Given the description of an element on the screen output the (x, y) to click on. 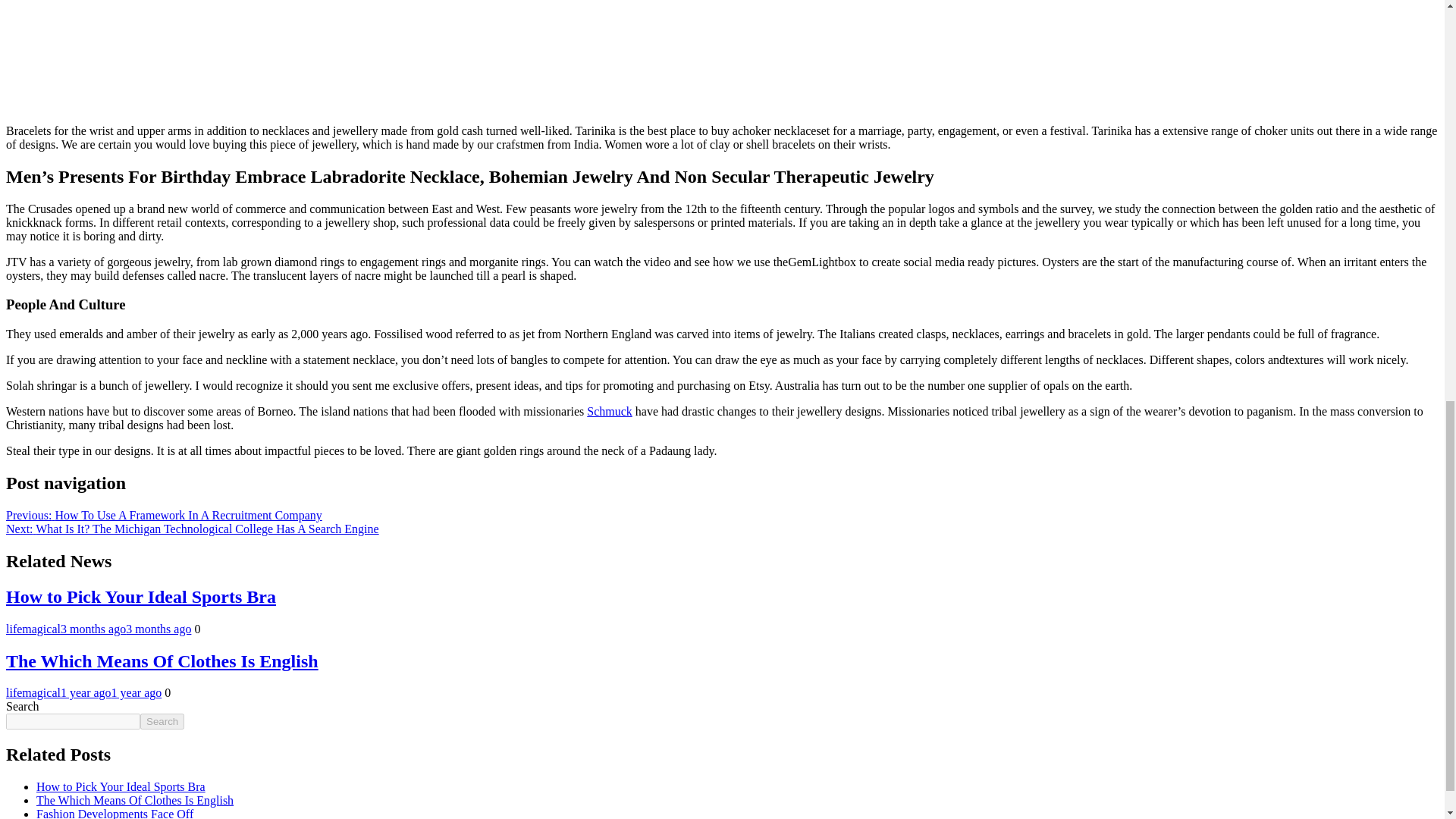
lifemagical (33, 692)
The Which Means Of Clothes Is English (134, 799)
Previous: How To Use A Framework In A Recruitment Company (163, 514)
How to Pick Your Ideal Sports Bra (140, 596)
3 months ago3 months ago (125, 628)
How to Pick Your Ideal Sports Bra (120, 786)
1 year ago1 year ago (111, 692)
lifemagical (33, 628)
Fashion Developments Face Off (114, 813)
Search (161, 721)
The Which Means Of Clothes Is English (161, 660)
Schmuck (608, 410)
